Given the description of an element on the screen output the (x, y) to click on. 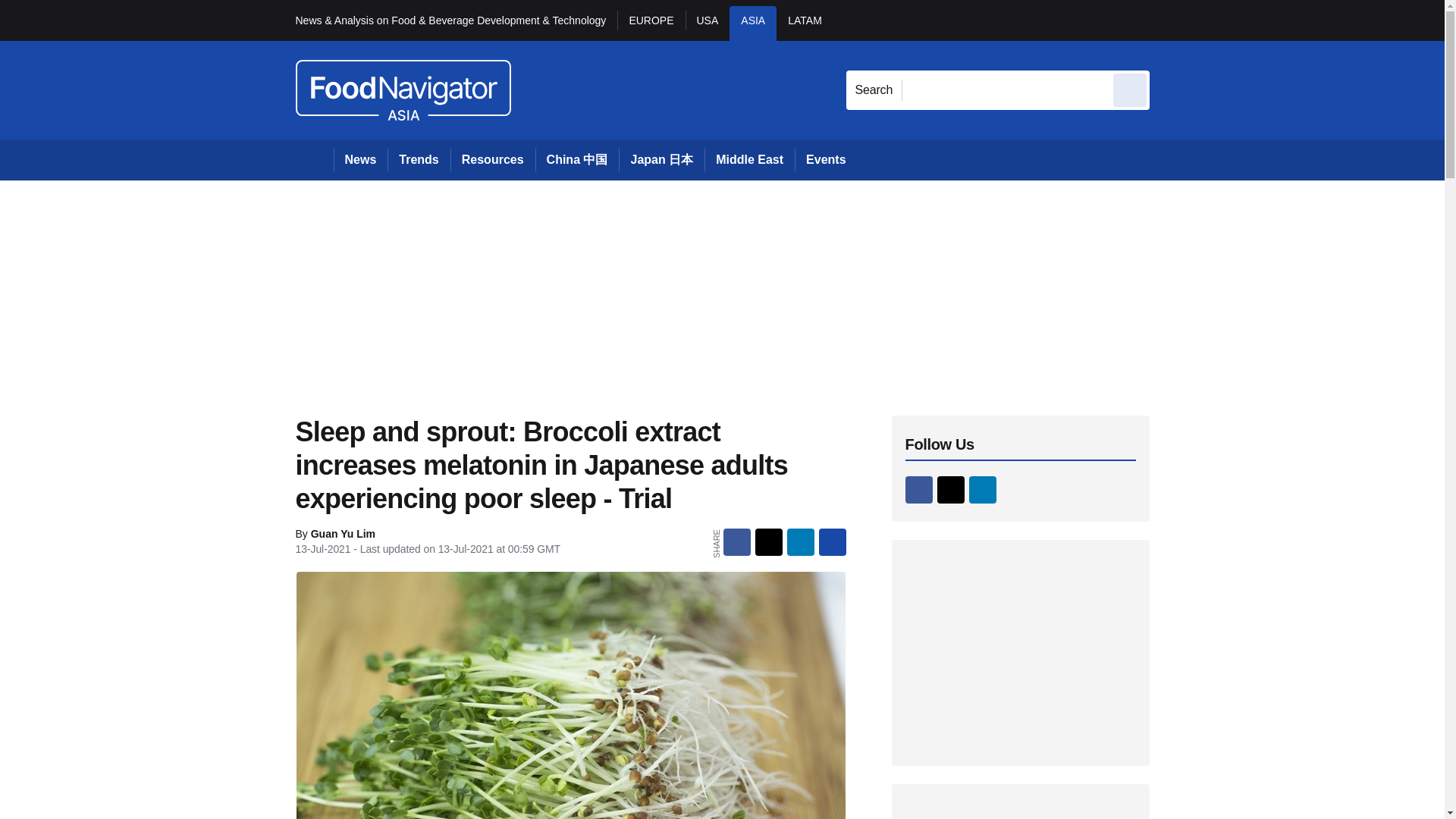
Trends (418, 159)
FoodNavigator Asia (403, 89)
News (360, 159)
3rd party ad content (1020, 810)
ASIA (752, 22)
Home (314, 159)
USA (707, 22)
3rd party ad content (1020, 652)
Sign in (1171, 20)
LATAM (804, 22)
